Given the description of an element on the screen output the (x, y) to click on. 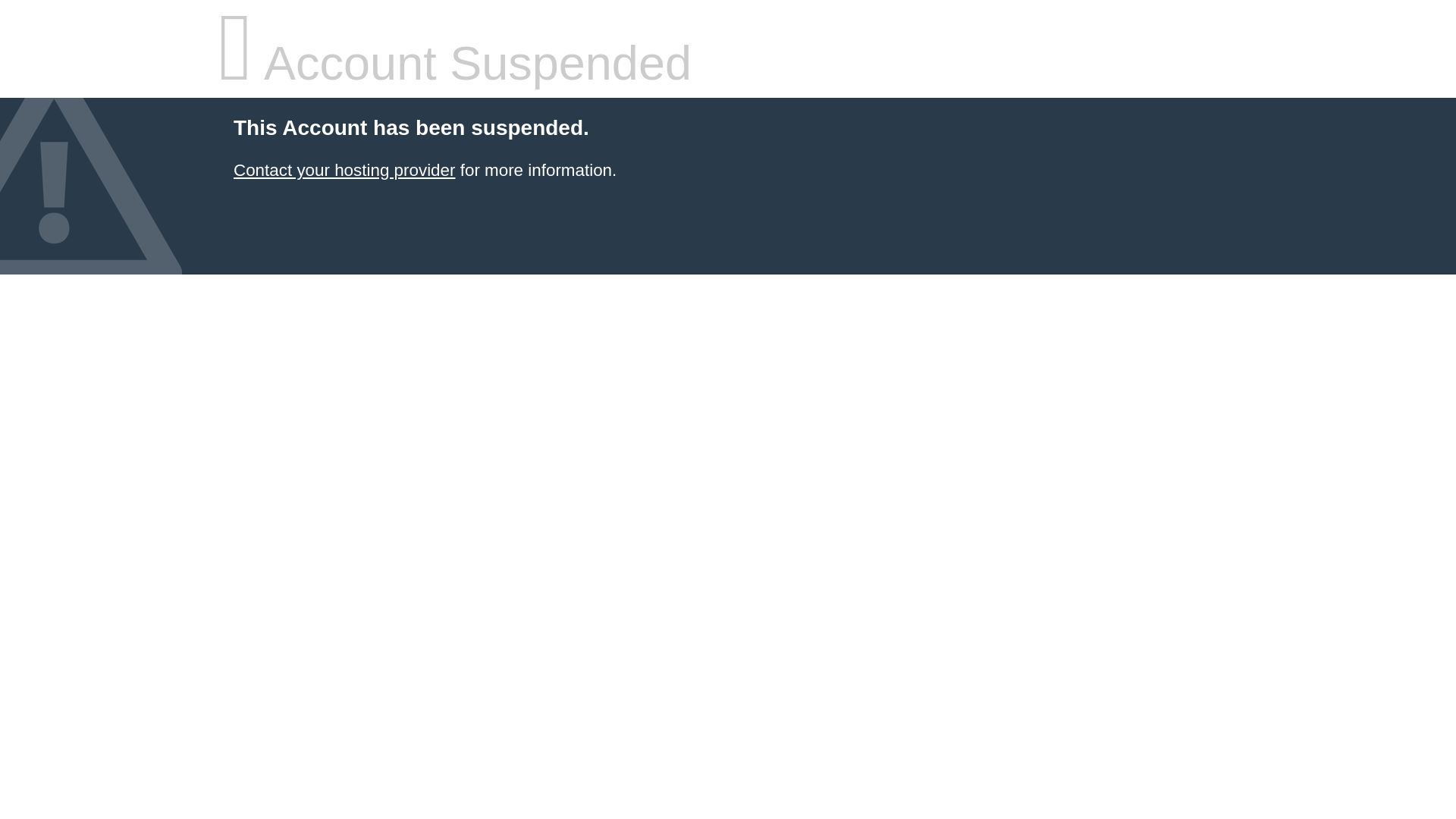
Contact your hosting provider (343, 169)
